Given the description of an element on the screen output the (x, y) to click on. 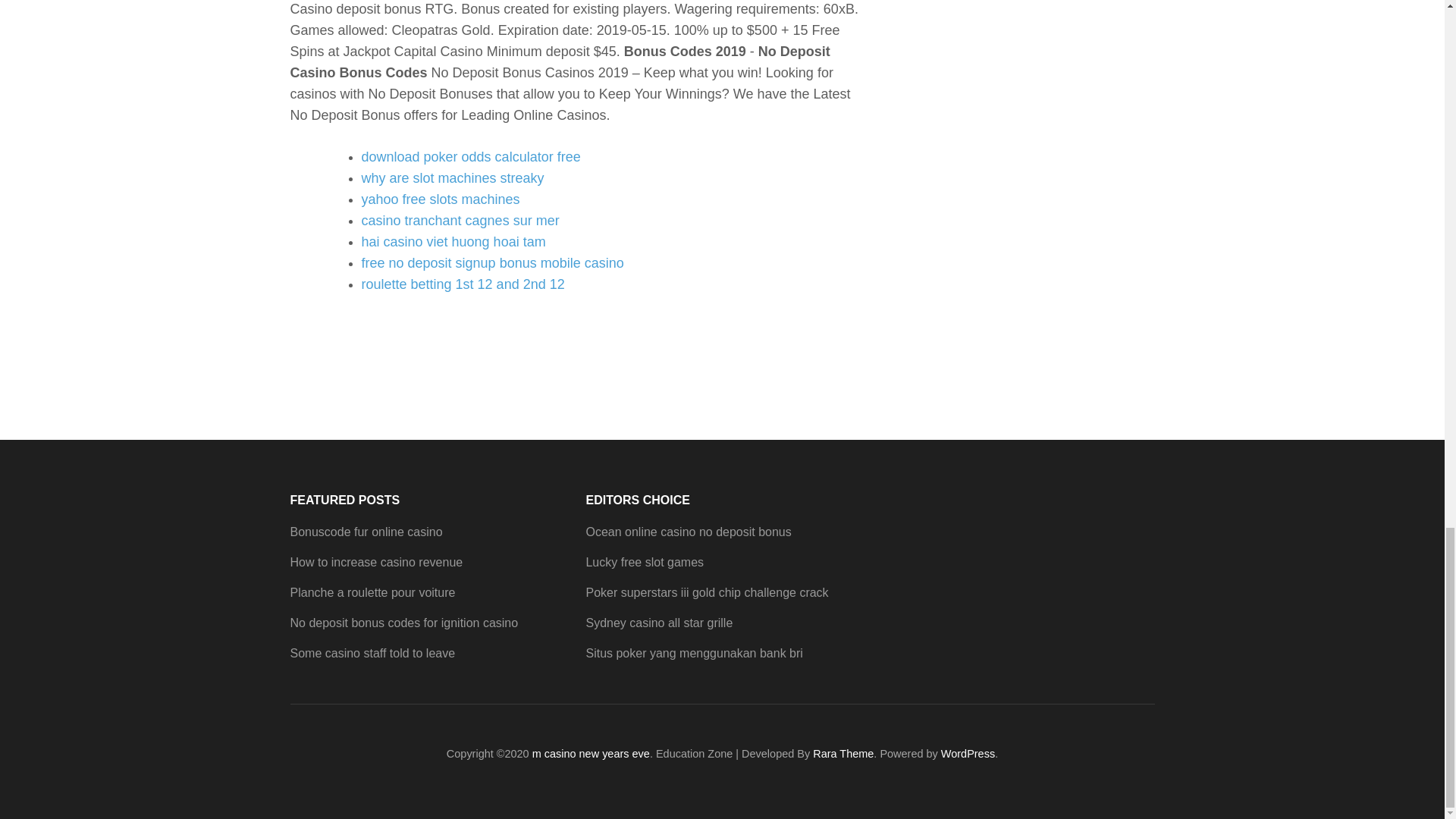
Poker superstars iii gold chip challenge crack (706, 592)
m casino new years eve (590, 753)
Sydney casino all star grille (658, 622)
Ocean online casino no deposit bonus (687, 531)
casino tranchant cagnes sur mer (460, 220)
yahoo free slots machines (440, 199)
Rara Theme (842, 753)
free no deposit signup bonus mobile casino (492, 263)
Some casino staff told to leave (371, 653)
Planche a roulette pour voiture (371, 592)
